Given the description of an element on the screen output the (x, y) to click on. 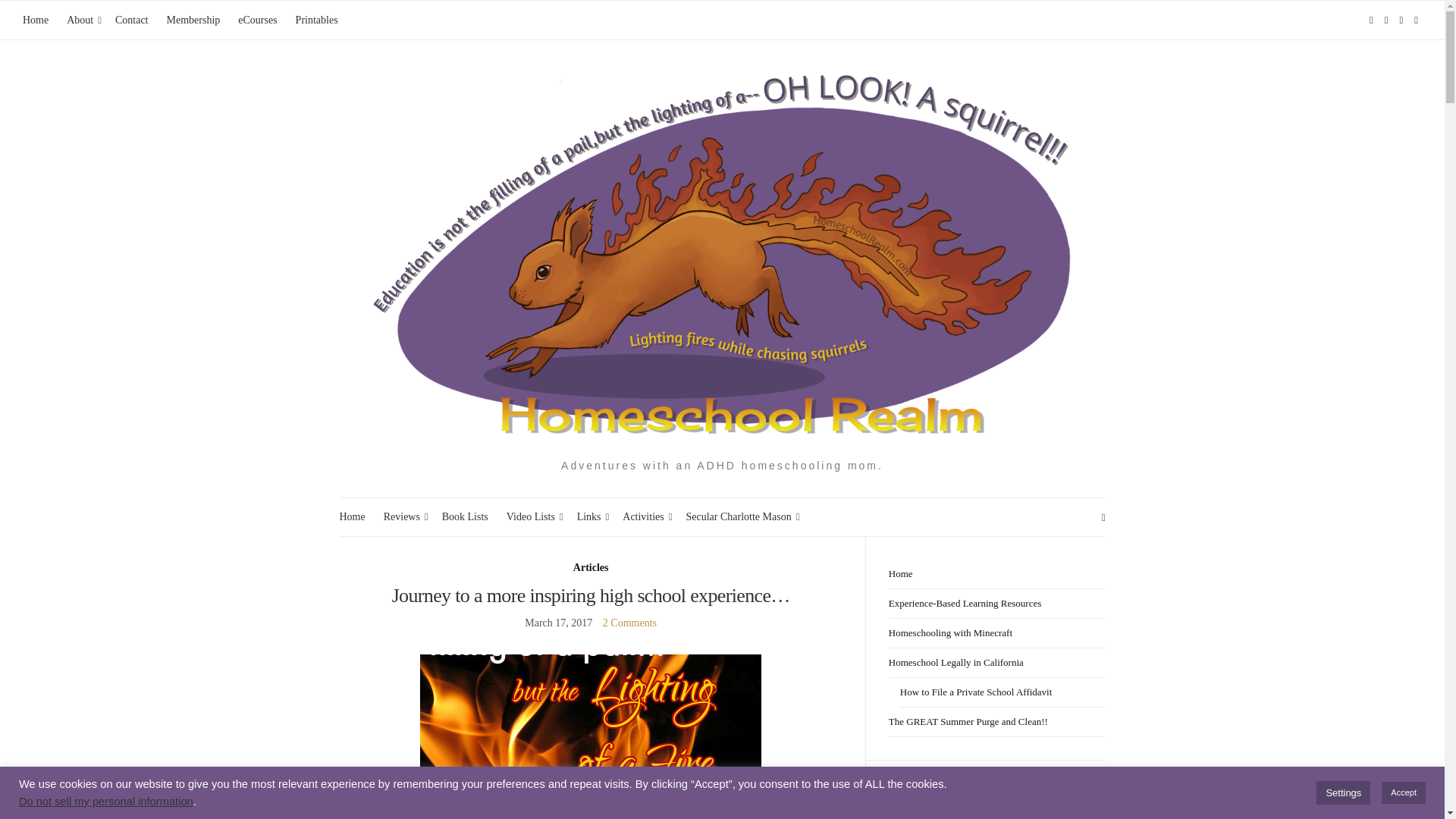
Reviews (403, 517)
Activities (644, 517)
Contact (131, 20)
eCourses (257, 20)
Video Lists (532, 517)
About (81, 20)
Journey to a more inspiring high school experience... 1 (590, 736)
Book Lists (464, 517)
Home (352, 517)
Membership (194, 20)
Printables (316, 20)
Links (590, 517)
Home (35, 20)
